Given the description of an element on the screen output the (x, y) to click on. 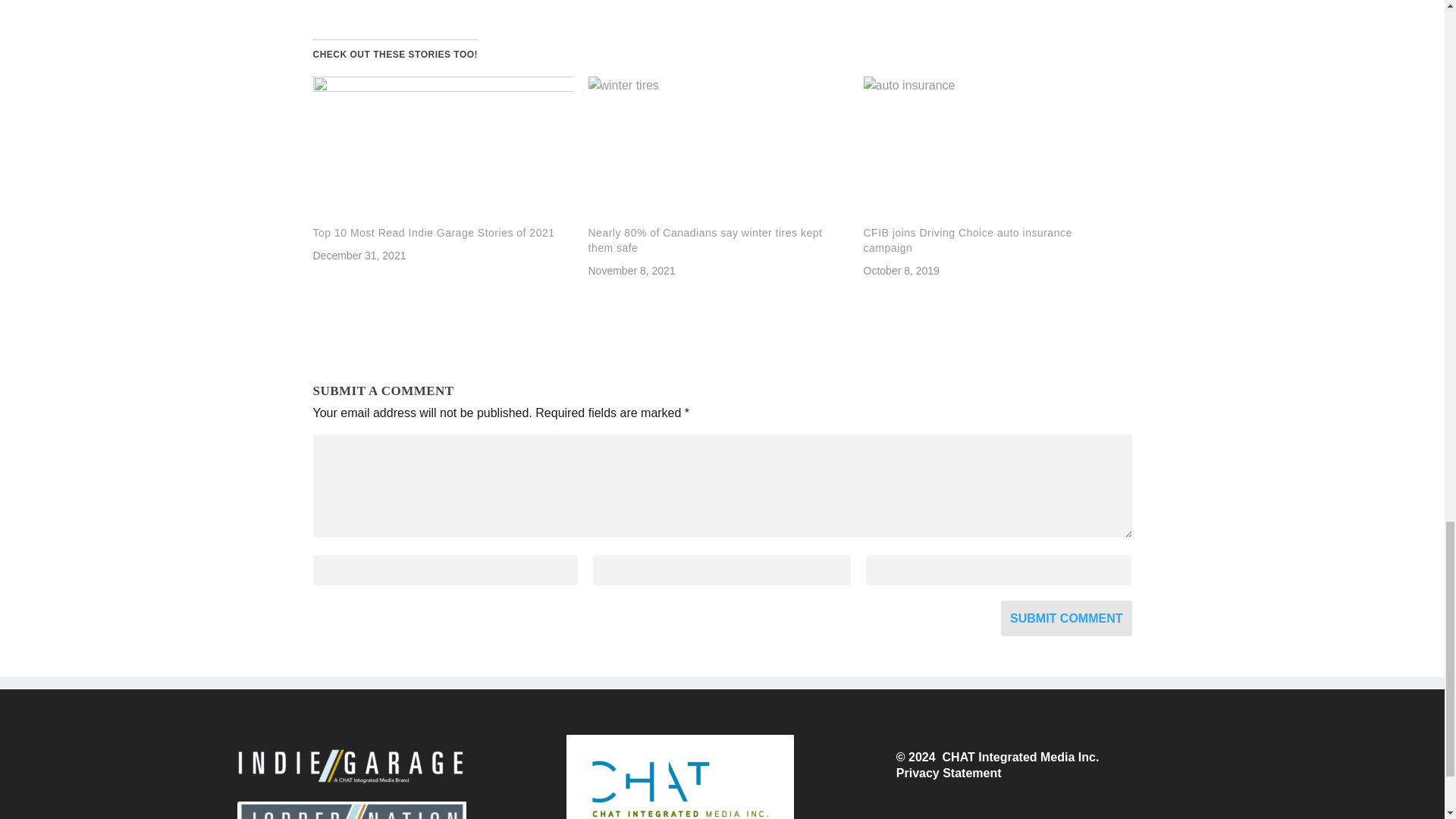
Top 10 Most Read Indie Garage Stories of 2021 (433, 232)
CFIB joins Driving Choice auto insurance campaign (967, 239)
CFIB joins Driving Choice auto insurance campaign (967, 239)
Top 10 Most Read Indie Garage Stories of 2021 (442, 150)
Top 10 Most Read Indie Garage Stories of 2021 (433, 232)
CFIB joins Driving Choice auto insurance campaign (992, 150)
3rd party ad content (426, 2)
SUBMIT COMMENT (1066, 618)
